Given the description of an element on the screen output the (x, y) to click on. 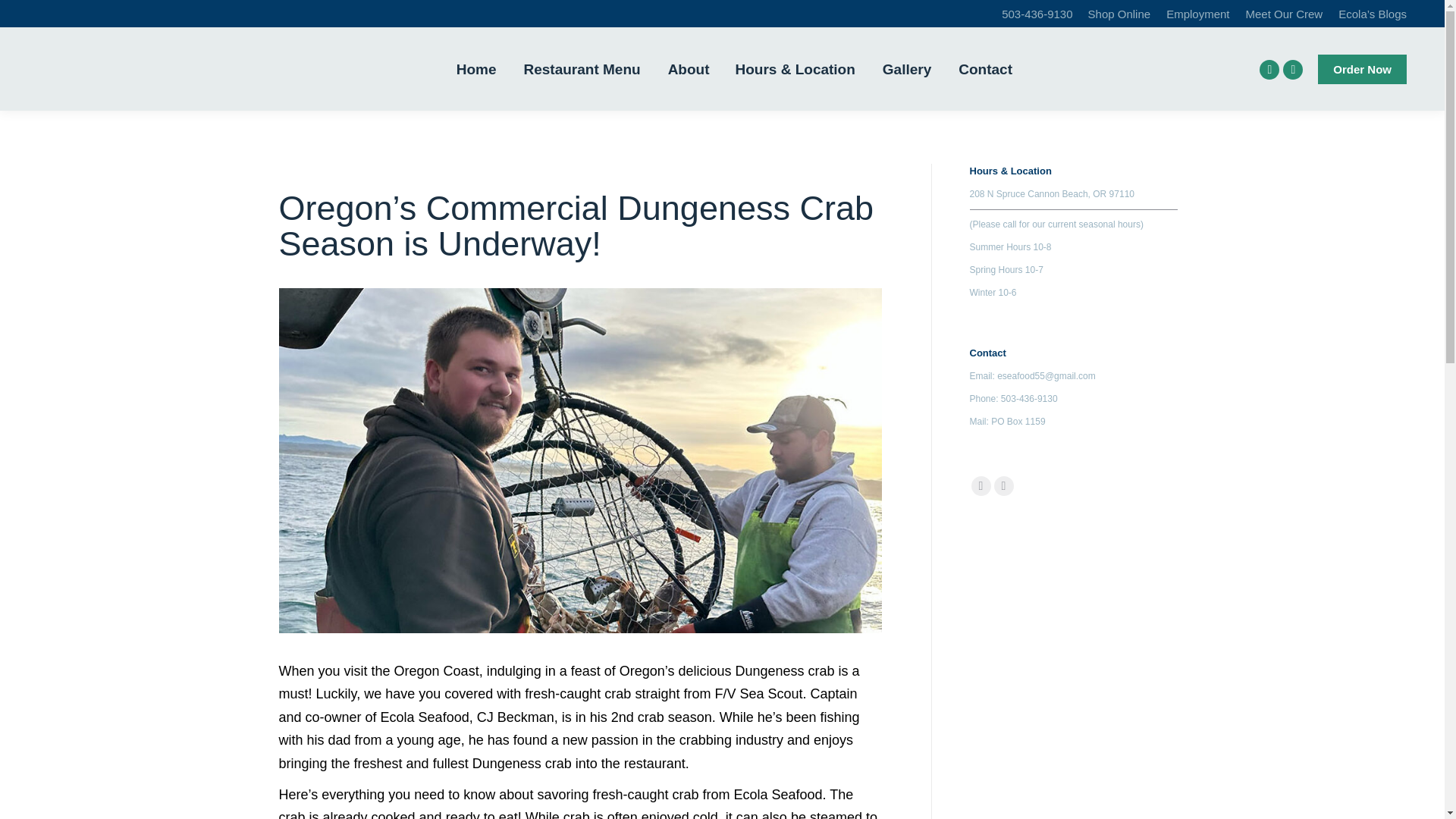
Order Now (1361, 69)
Employment (1197, 13)
Facebook page opens in new window (1269, 69)
Instagram page opens in new window (1292, 69)
Meet Our Crew (1284, 13)
Contact (984, 68)
Shop Online (1119, 13)
Facebook page opens in new window (980, 485)
Facebook page opens in new window (1269, 69)
503-436-9130 (1036, 13)
Instagram page opens in new window (1002, 485)
Restaurant Menu (581, 68)
Instagram page opens in new window (1292, 69)
Gallery (906, 68)
